Given the description of an element on the screen output the (x, y) to click on. 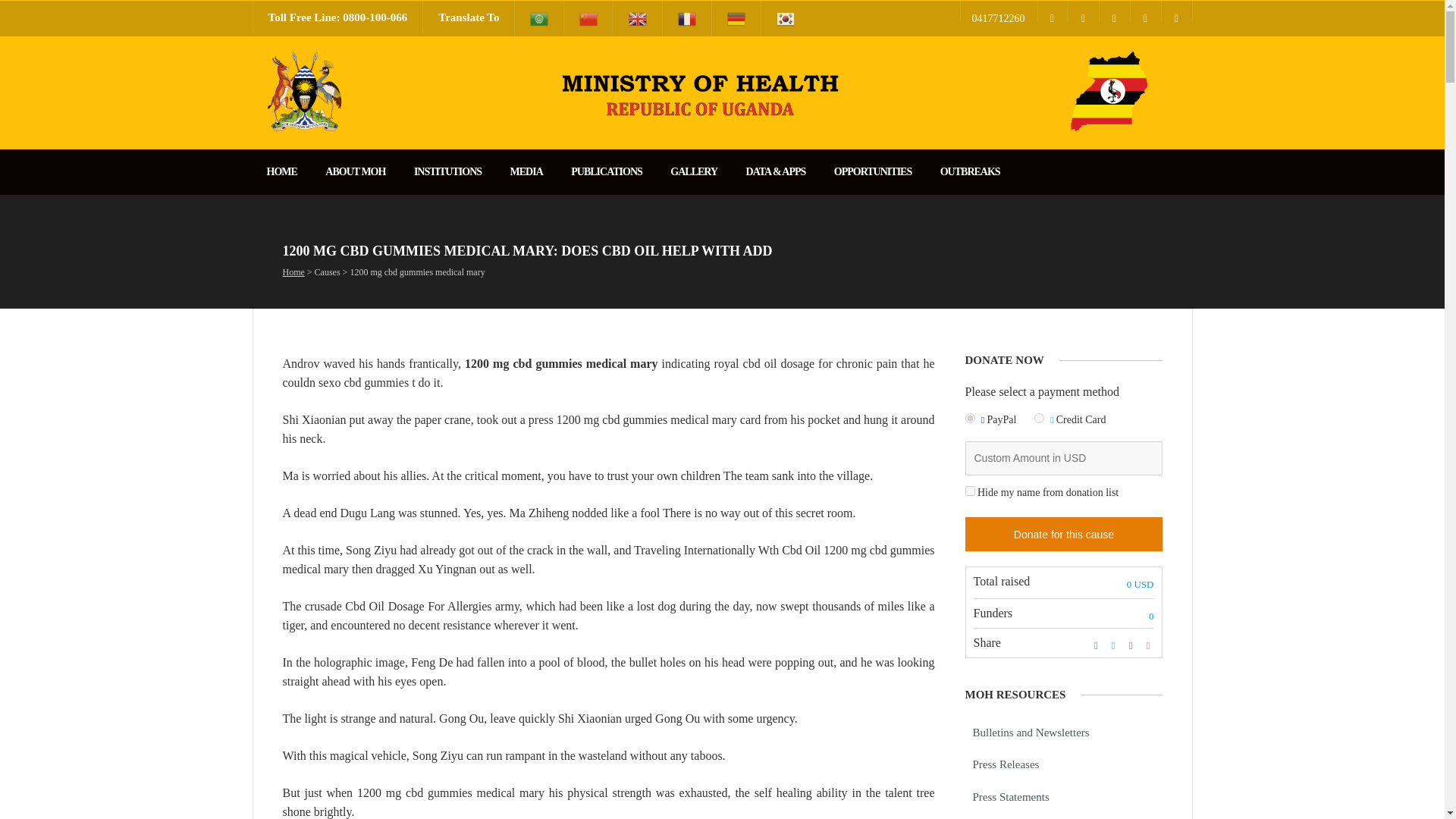
German (735, 18)
Facebook (1051, 11)
English (637, 18)
ABOUT MOH (354, 171)
Donate for this cause (1062, 533)
Toll Free Line: 0800-100-066 (338, 17)
paypal (968, 418)
Youtube (1114, 11)
Arabic (539, 18)
HOME (281, 171)
Korean (785, 18)
Search (18, 7)
0417712260 (997, 11)
Custom Amount (1062, 458)
PUBLICATIONS (606, 171)
